Given the description of an element on the screen output the (x, y) to click on. 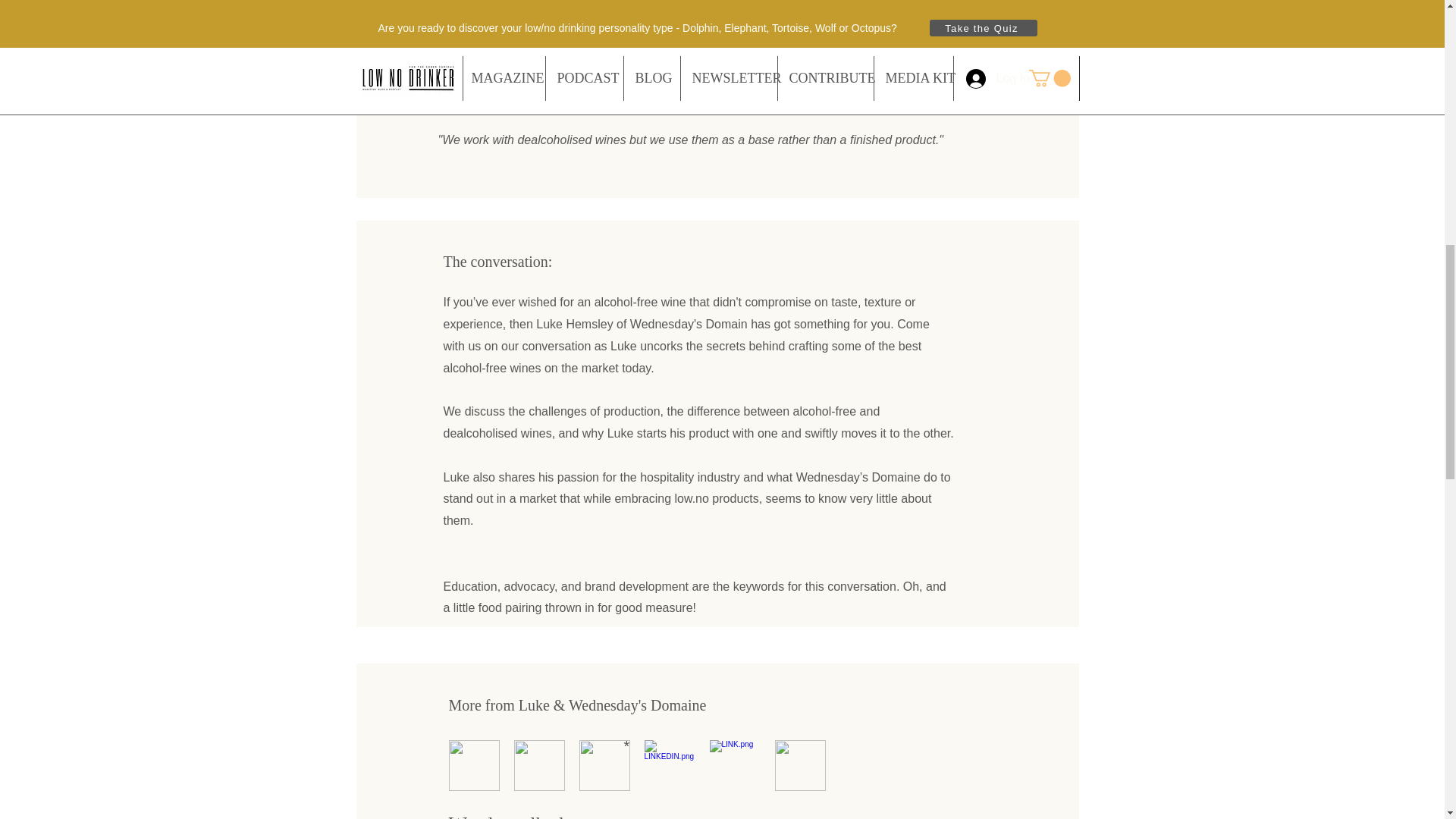
YouTube (933, 27)
Spotify (703, 27)
Apple (472, 27)
